Given the description of an element on the screen output the (x, y) to click on. 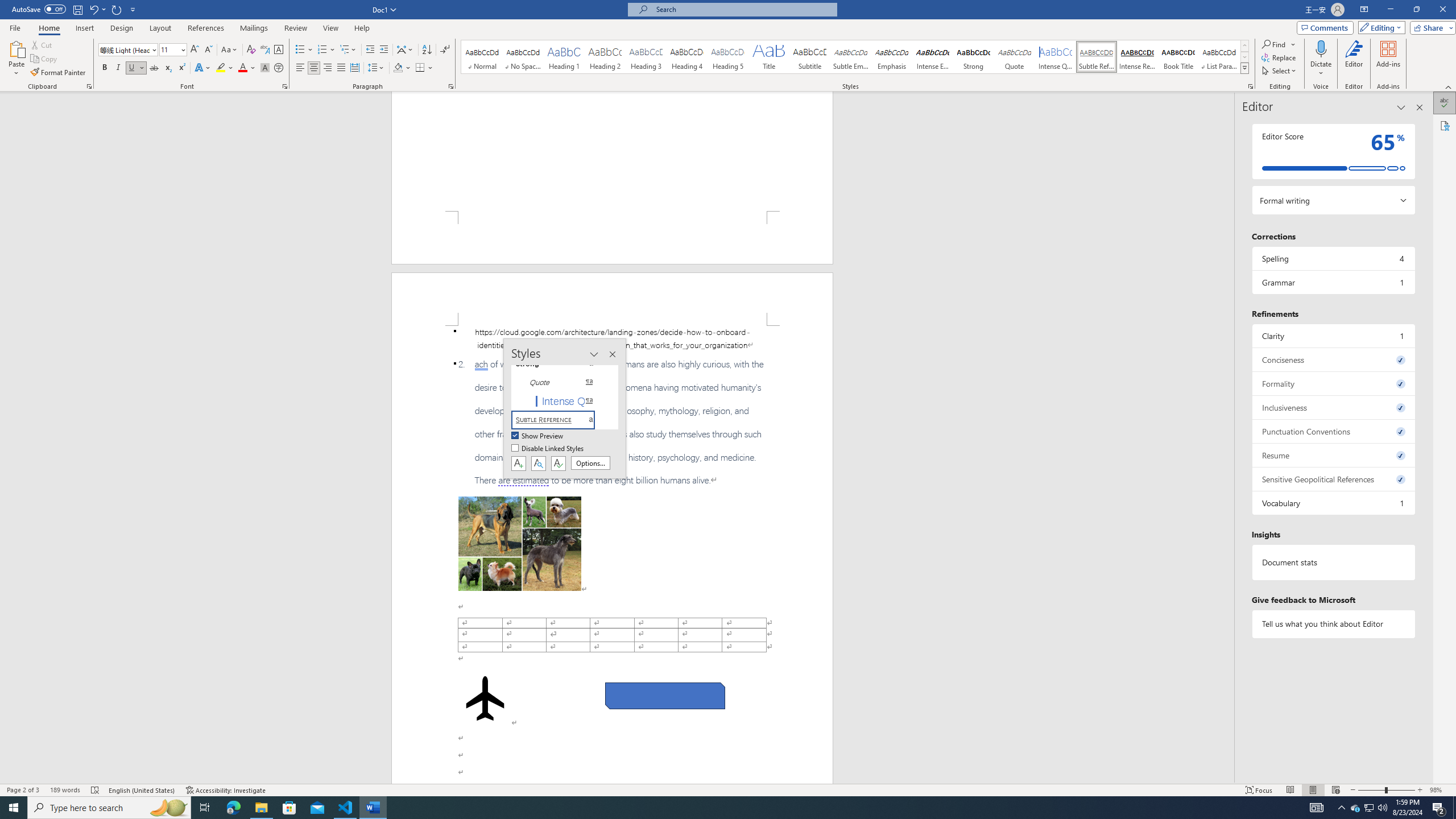
Phonetic Guide... (264, 49)
Microsoft search (742, 9)
Character Border (278, 49)
Grow Font (193, 49)
Title (768, 56)
Page 2 content (611, 554)
Justify (340, 67)
Vocabulary, 1 issue. Press space or enter to review items. (1333, 502)
Center (313, 67)
Replace... (1279, 56)
Intense Reference (1136, 56)
